Given the description of an element on the screen output the (x, y) to click on. 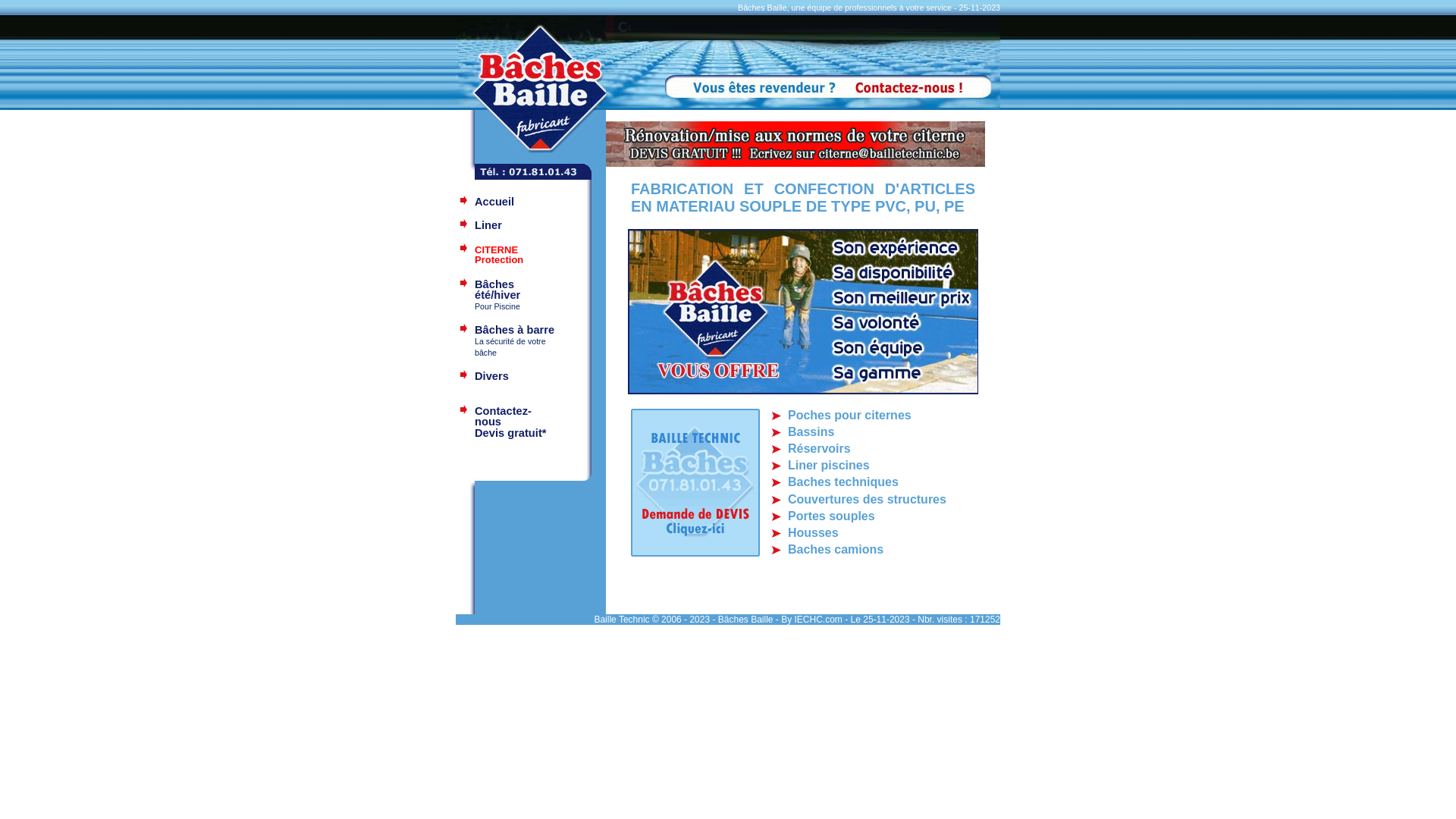
Liner Element type: text (488, 225)
Devis gratuit*
  Element type: text (510, 439)
Contactez-nous Element type: text (502, 417)
Divers
  Element type: text (491, 382)
CITERNE Protection Element type: text (498, 255)
Accueil Element type: text (494, 202)
By IECHC.com Element type: text (811, 619)
